Given the description of an element on the screen output the (x, y) to click on. 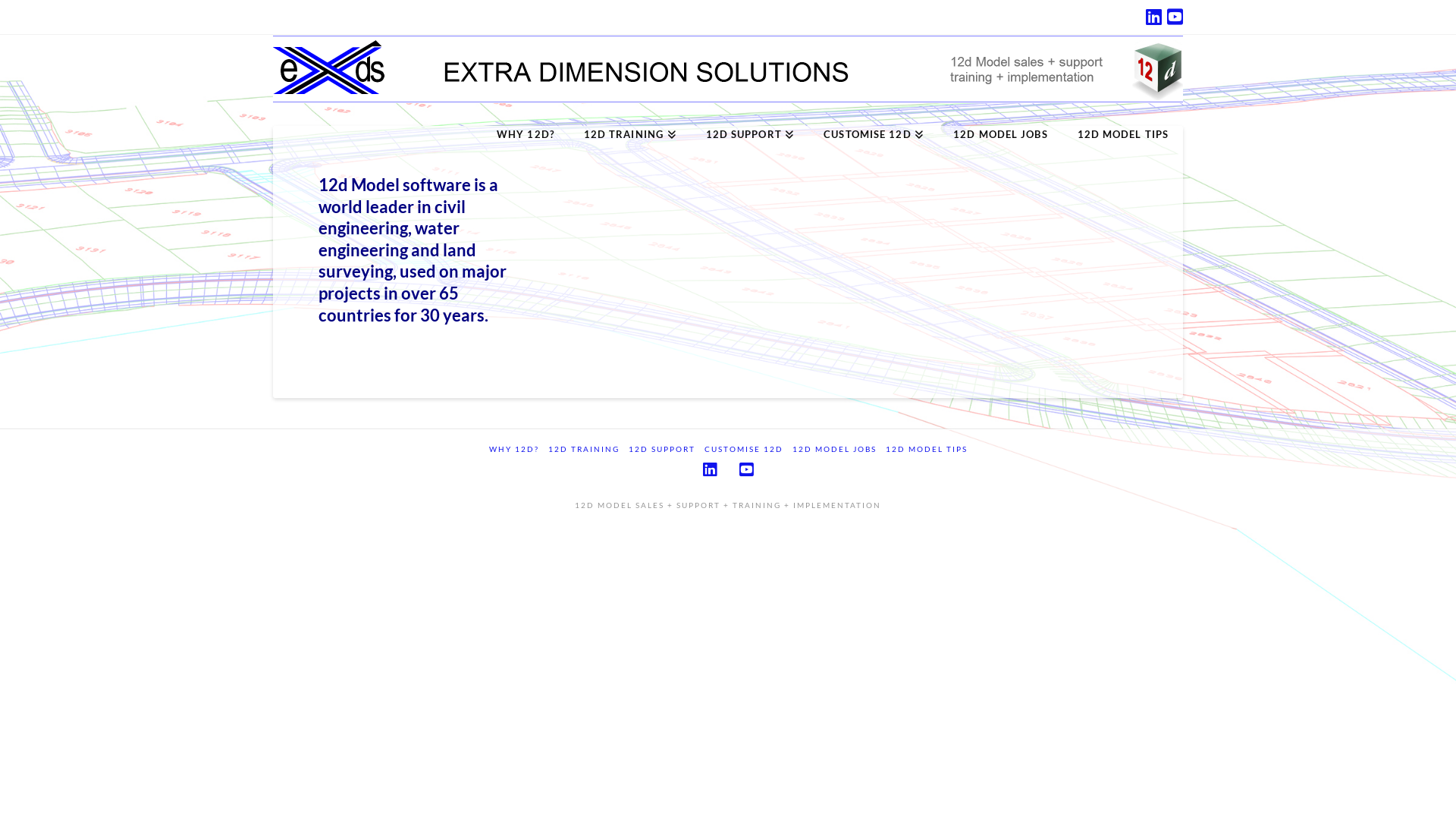
12D MODEL TIPS Element type: text (1122, 116)
WHY 12D? Element type: text (513, 449)
LinkedIn Element type: hover (709, 469)
12D TRAINING Element type: text (629, 116)
LinkedIn Element type: hover (1153, 16)
12D SUPPORT Element type: text (660, 449)
12D MODEL JOBS Element type: text (833, 449)
12D MODEL TIPS Element type: text (926, 449)
12D SUPPORT Element type: text (749, 116)
CUSTOMISE 12D Element type: text (742, 449)
CUSTOMISE 12D Element type: text (873, 116)
12D MODEL JOBS Element type: text (999, 116)
YouTube Element type: hover (746, 469)
YouTube Element type: hover (1175, 16)
12D TRAINING Element type: text (582, 449)
WHY 12D? Element type: text (524, 116)
